Given the description of an element on the screen output the (x, y) to click on. 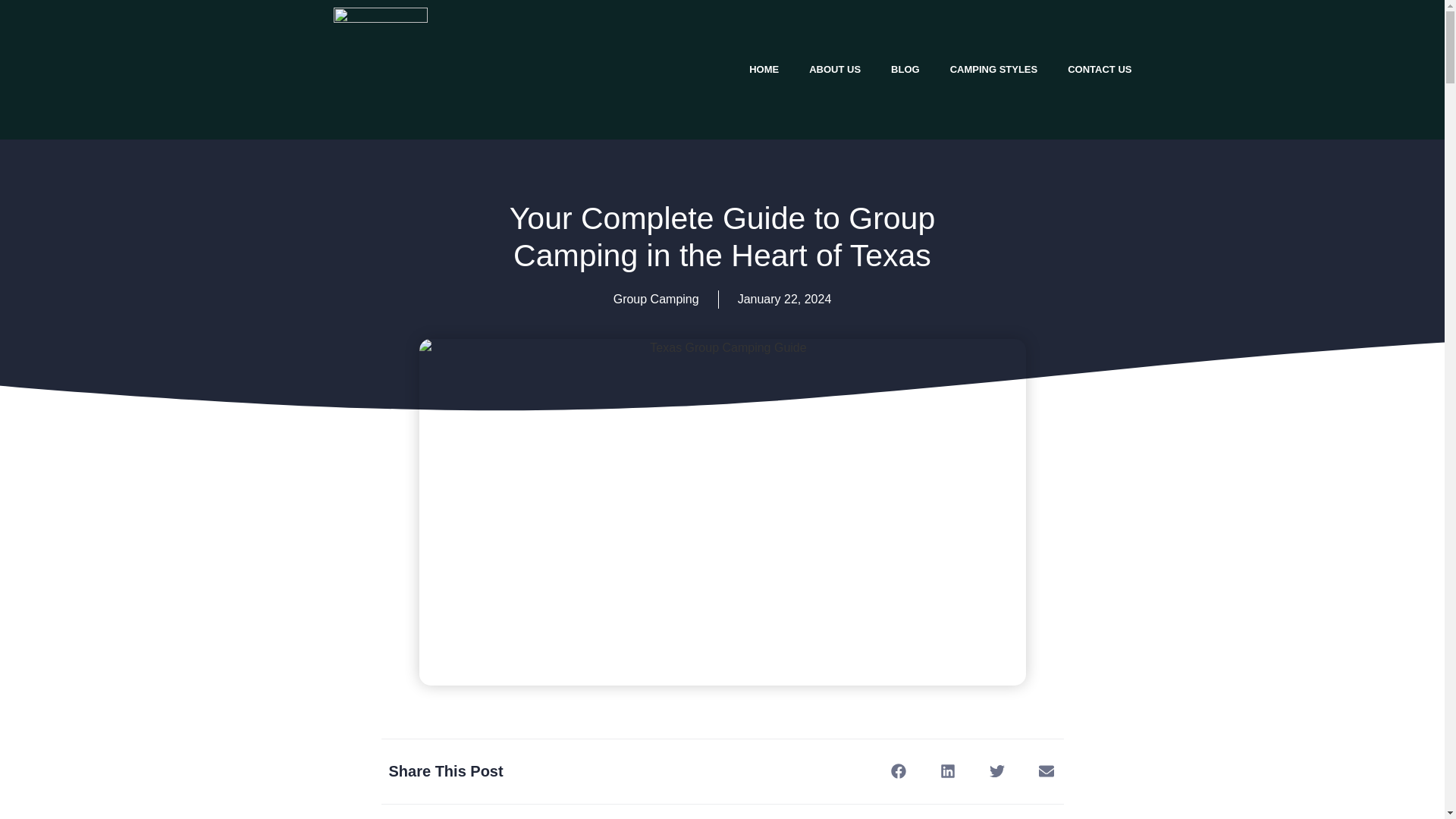
CONTACT US (1099, 69)
Group Camping (655, 298)
January 22, 2024 (784, 299)
CAMPING STYLES (993, 69)
HOME (763, 69)
BLOG (905, 69)
ABOUT US (834, 69)
